Given the description of an element on the screen output the (x, y) to click on. 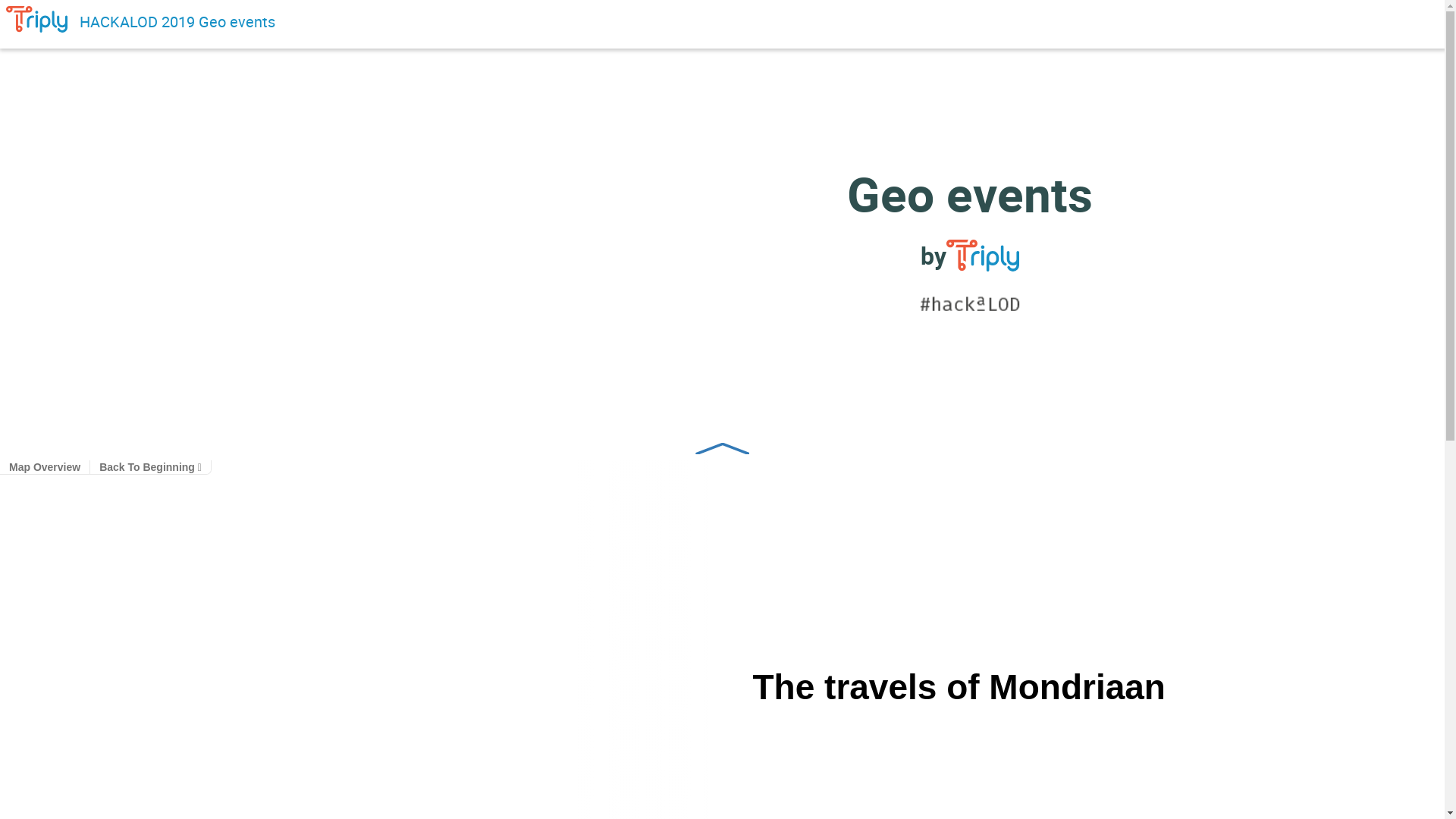
Triply Element type: hover (982, 255)
HACKALOD 2019 Geo events Element type: text (177, 21)
